Given the description of an element on the screen output the (x, y) to click on. 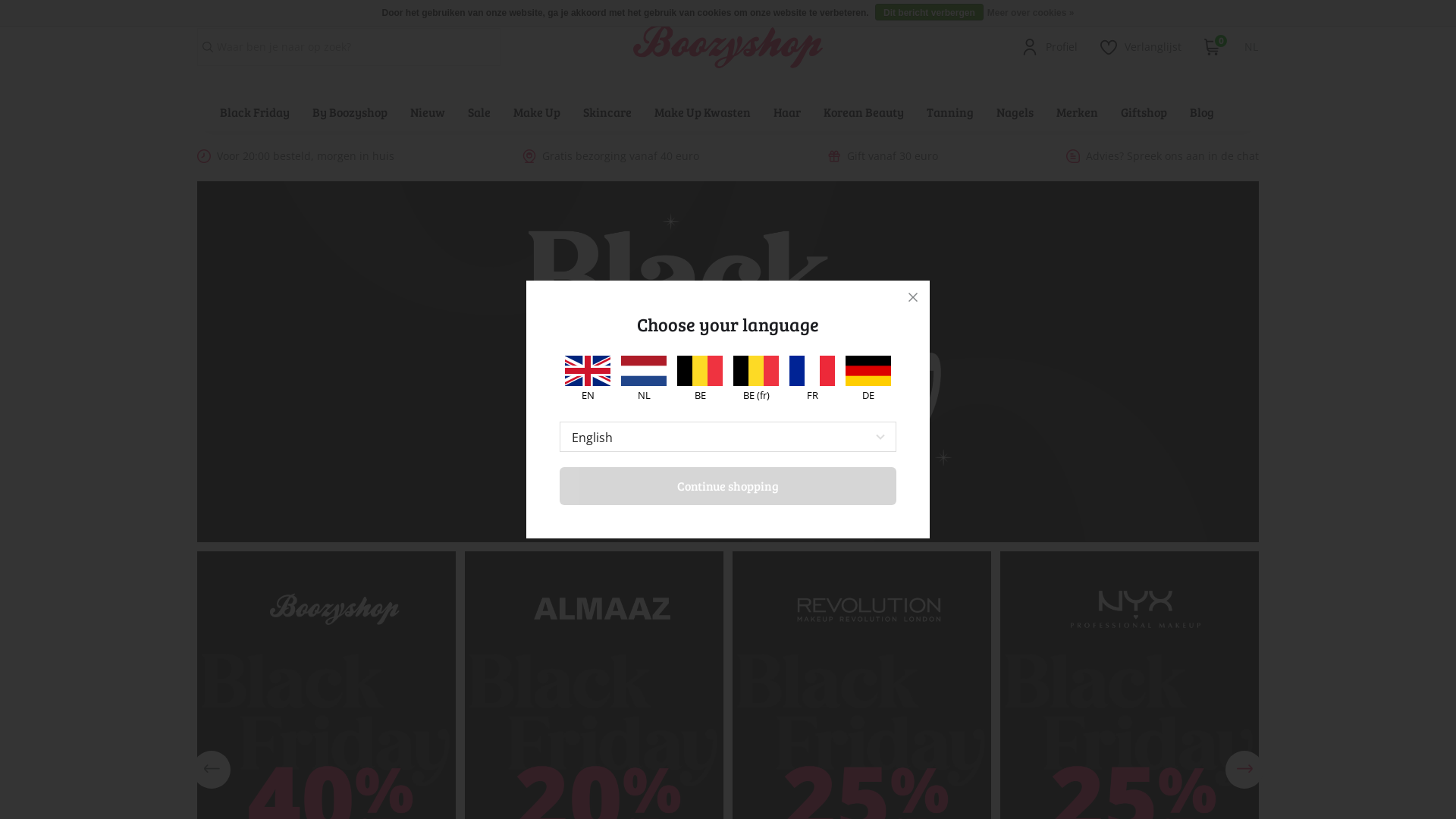
Banner 1 Element type: hover (727, 361)
Giftshop Element type: text (1143, 112)
FR Element type: text (812, 378)
Haar Element type: text (786, 112)
Make Up Element type: text (536, 112)
Make Up Kwasten Element type: text (702, 112)
Sale Element type: text (478, 112)
Blog Element type: text (1201, 112)
EN Element type: text (587, 378)
Gratis bezorging vanaf 40 euro Element type: text (610, 156)
Close Element type: hover (912, 296)
0 Element type: text (1212, 46)
Skincare Element type: text (607, 112)
Zoeken Element type: hover (207, 46)
Nieuw Element type: text (427, 112)
Tanning Element type: text (949, 112)
Advies? Spreek ons aan in de chat Element type: text (1162, 156)
DE Element type: text (868, 378)
BE (fr) Element type: text (756, 378)
Verlanglijst Element type: text (1140, 46)
Voor 20:00 besteld, morgen in huis Element type: text (295, 156)
NL Element type: text (643, 378)
By Boozyshop Element type: text (349, 112)
Nagels Element type: text (1014, 112)
Profiel Element type: text (1049, 46)
Black Friday Element type: text (254, 112)
Merken Element type: text (1077, 112)
Continue shopping Element type: text (727, 486)
Dit bericht verbergen Element type: text (929, 11)
BE Element type: text (699, 378)
Gift vanaf 30 euro Element type: text (882, 156)
Korean Beauty Element type: text (863, 112)
